Given the description of an element on the screen output the (x, y) to click on. 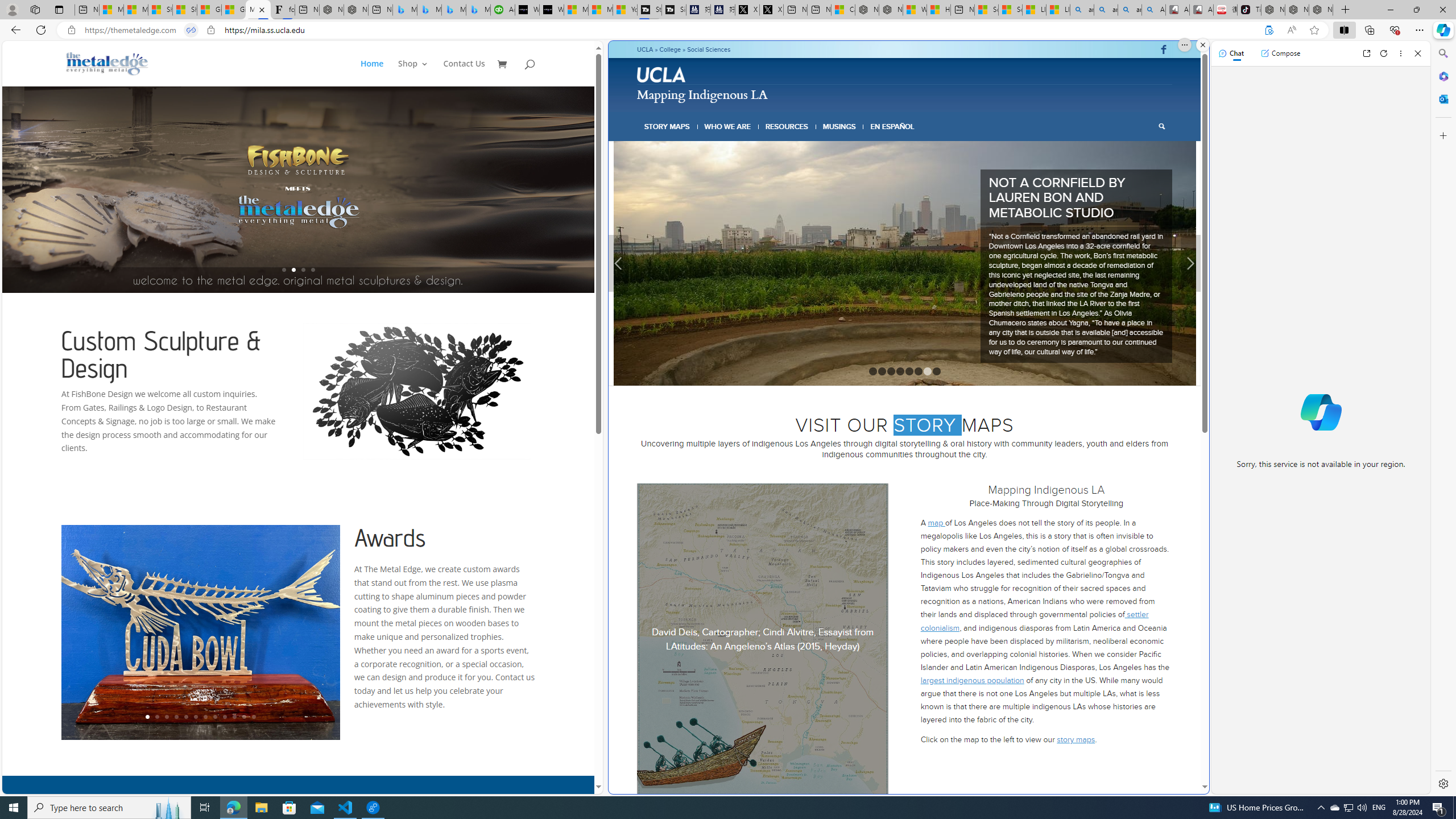
Nordace - #1 Japanese Best-Seller - Siena Smart Backpack (355, 9)
